Given the description of an element on the screen output the (x, y) to click on. 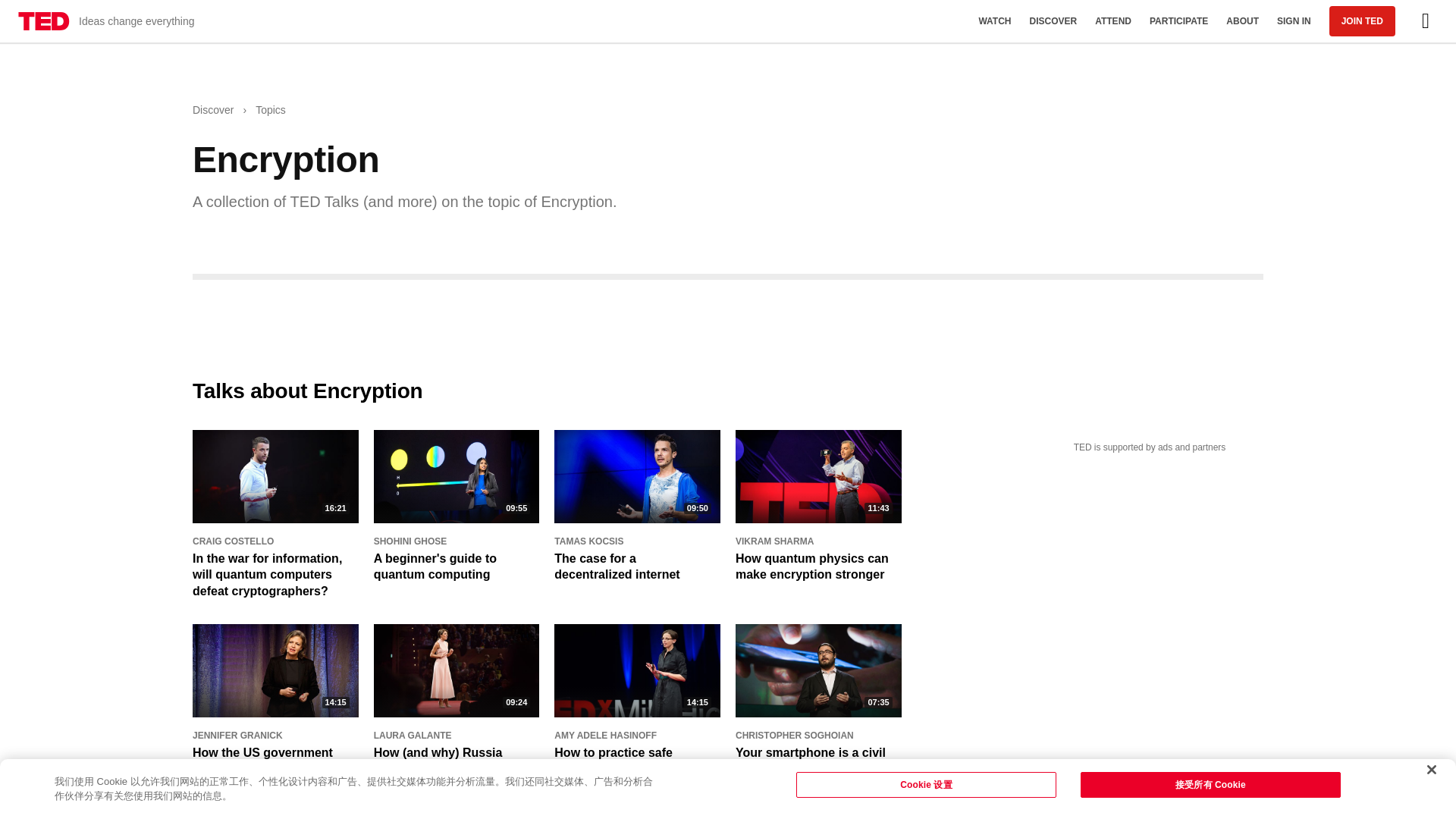
PARTICIPATE (1178, 21)
3rd party ad content (1149, 640)
ATTEND (1113, 21)
Ideas change everything (106, 21)
ABOUT (1242, 21)
WATCH (994, 21)
Topics (270, 110)
SIGN IN (1294, 21)
DISCOVER (1053, 21)
